Given the description of an element on the screen output the (x, y) to click on. 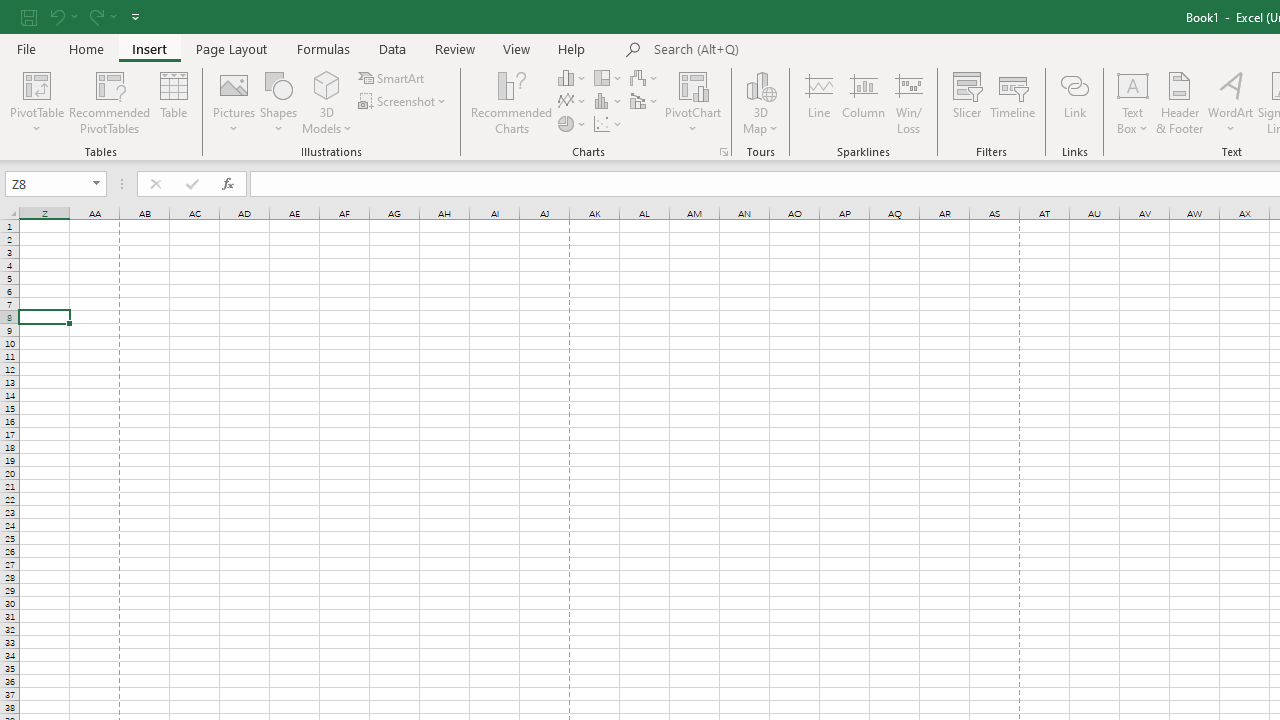
Recommended PivotTables (109, 102)
Insert Scatter (X, Y) or Bubble Chart (609, 124)
Insert Statistic Chart (609, 101)
Shapes (278, 102)
Timeline (1013, 102)
Pictures (234, 102)
Recommended Charts (723, 151)
Insert Line or Area Chart (573, 101)
Win/Loss (909, 102)
